Given the description of an element on the screen output the (x, y) to click on. 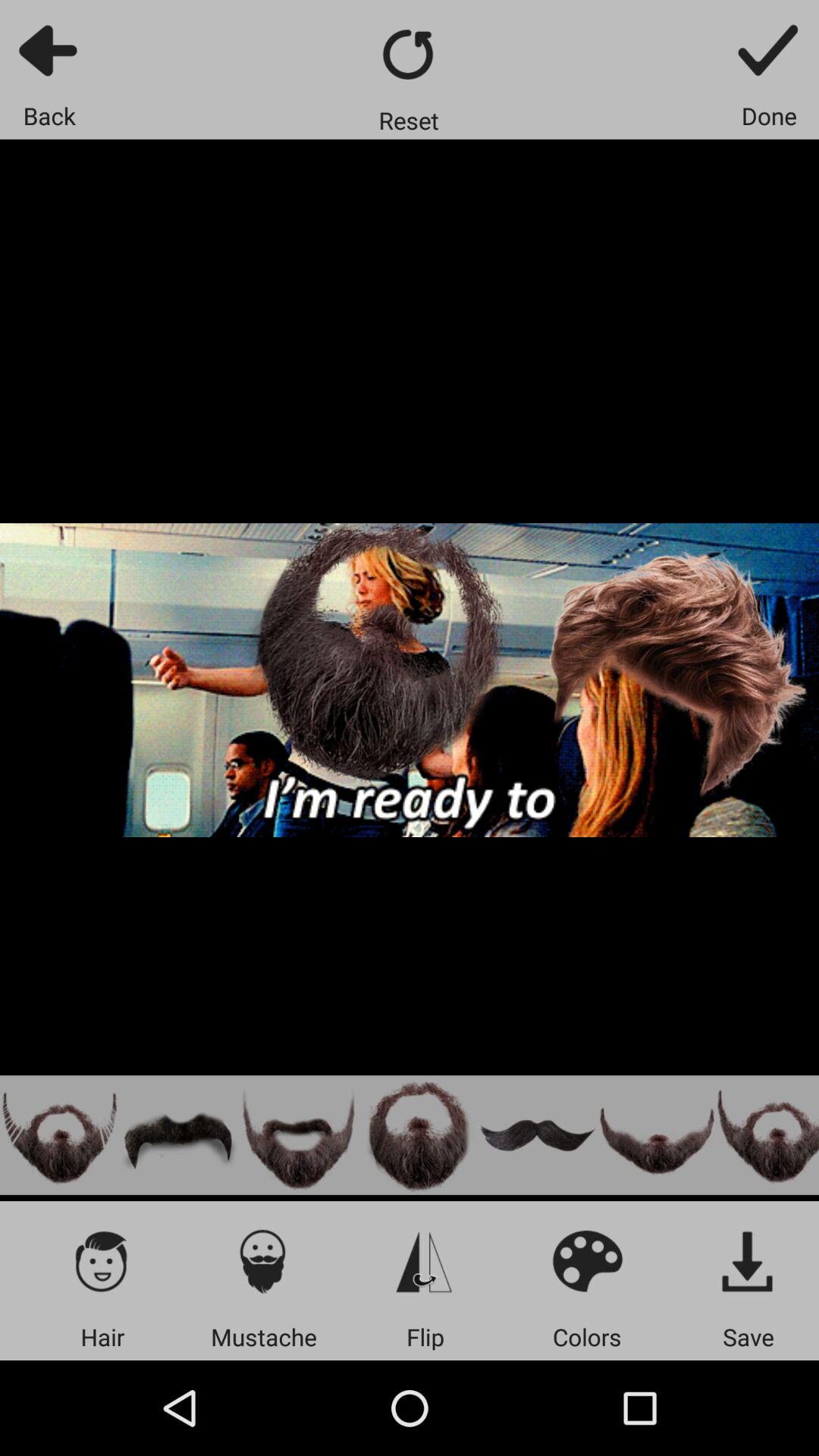
change the beard (656, 1134)
